Given the description of an element on the screen output the (x, y) to click on. 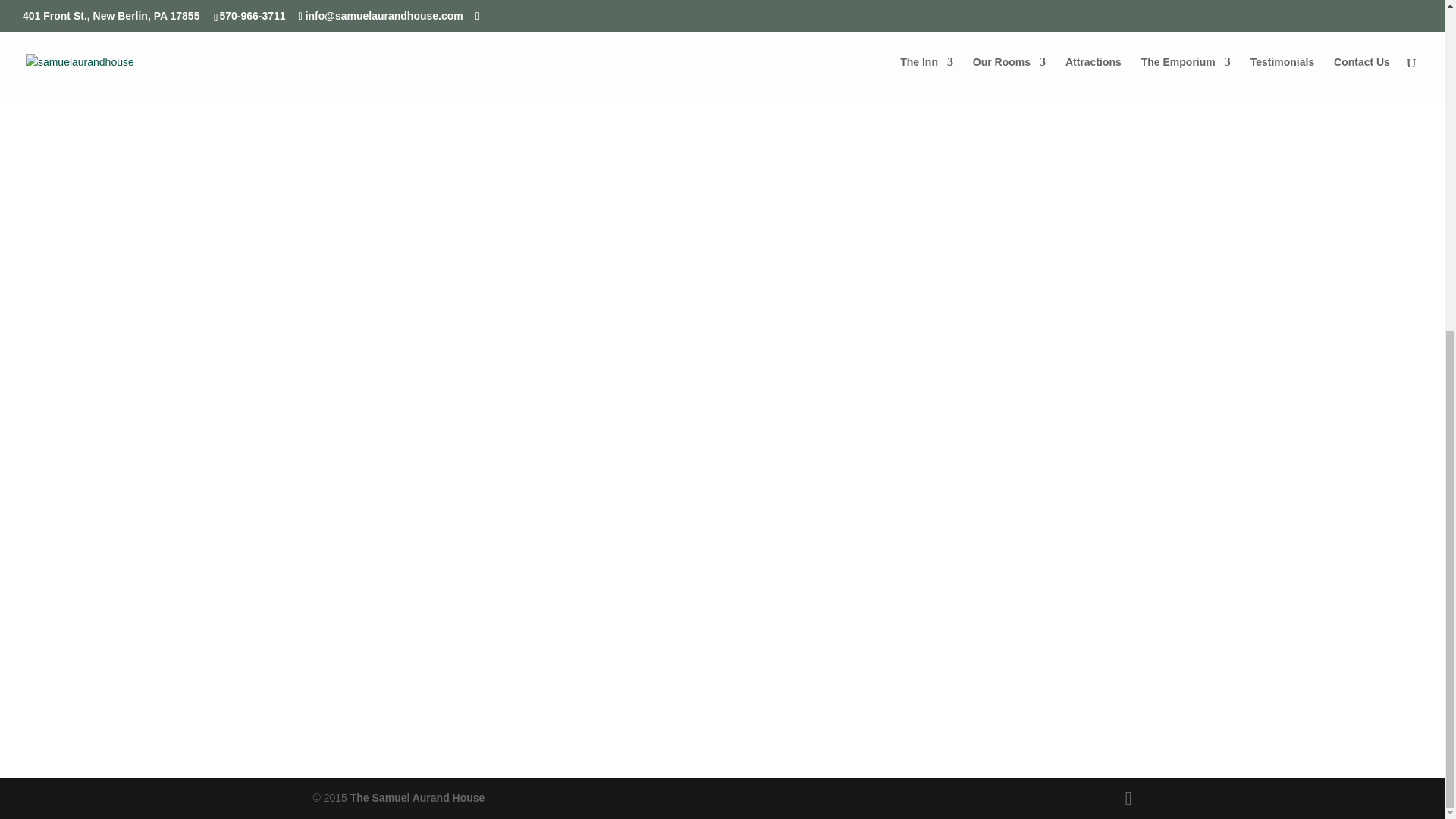
Contact (722, 667)
The Samuel Aurand House (417, 797)
The Emporium (1045, 218)
The Inn (398, 218)
Attractions (829, 218)
The Samuel Aurand House (417, 797)
